Given the description of an element on the screen output the (x, y) to click on. 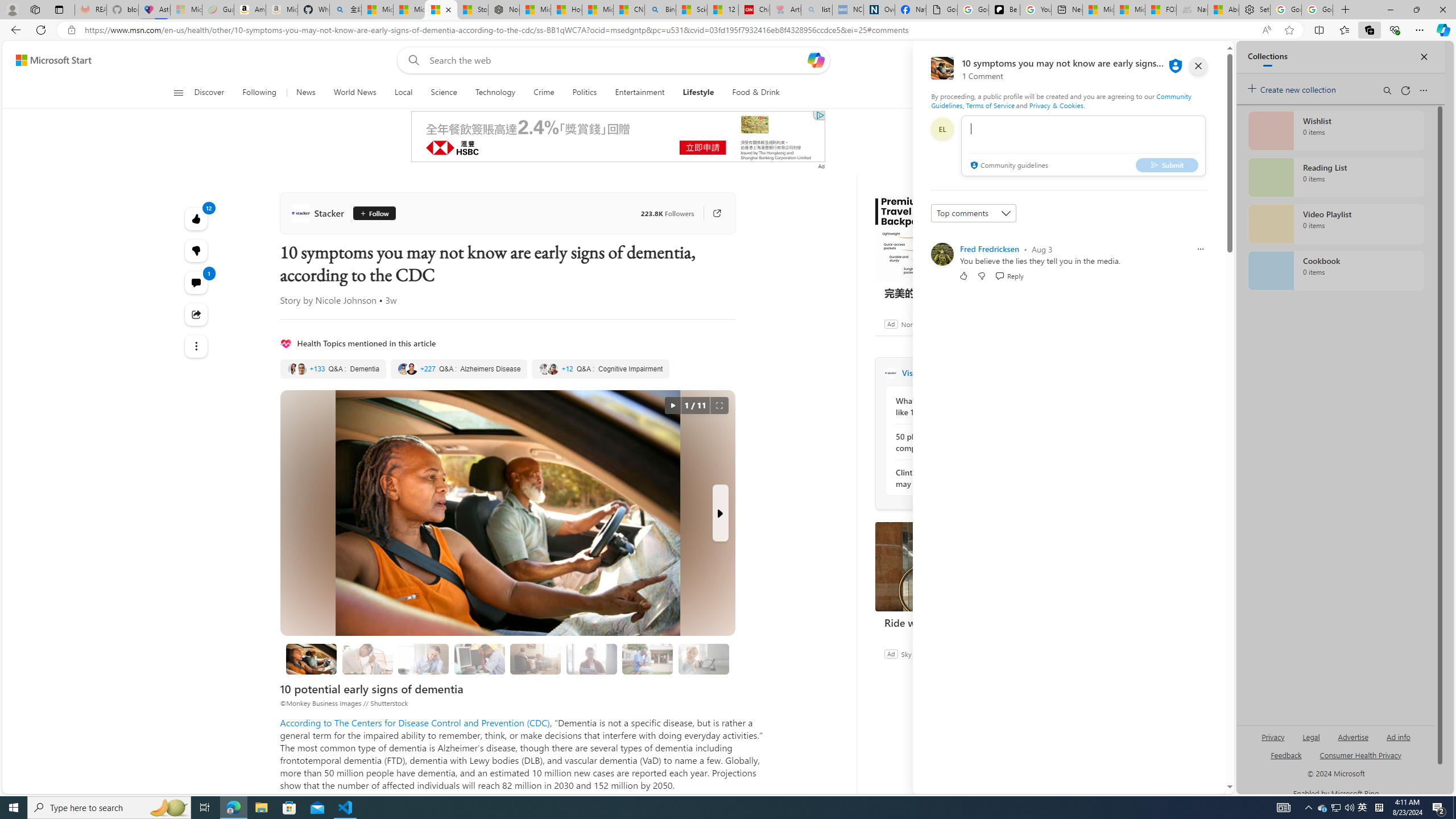
close (1198, 65)
Share this story (196, 314)
What 50 American cities looked like 100 years ago (957, 406)
Local (403, 92)
Crime (543, 92)
Nordace - Nordace Siena Is Not An Ordinary Backpack (503, 9)
12 (196, 250)
AutomationID: canvas (617, 136)
New problems with words in speaking or writing (646, 659)
Clint Eastwood: The life story you may not know (957, 477)
Navy Quest (1192, 9)
Dementia (332, 368)
